Given the description of an element on the screen output the (x, y) to click on. 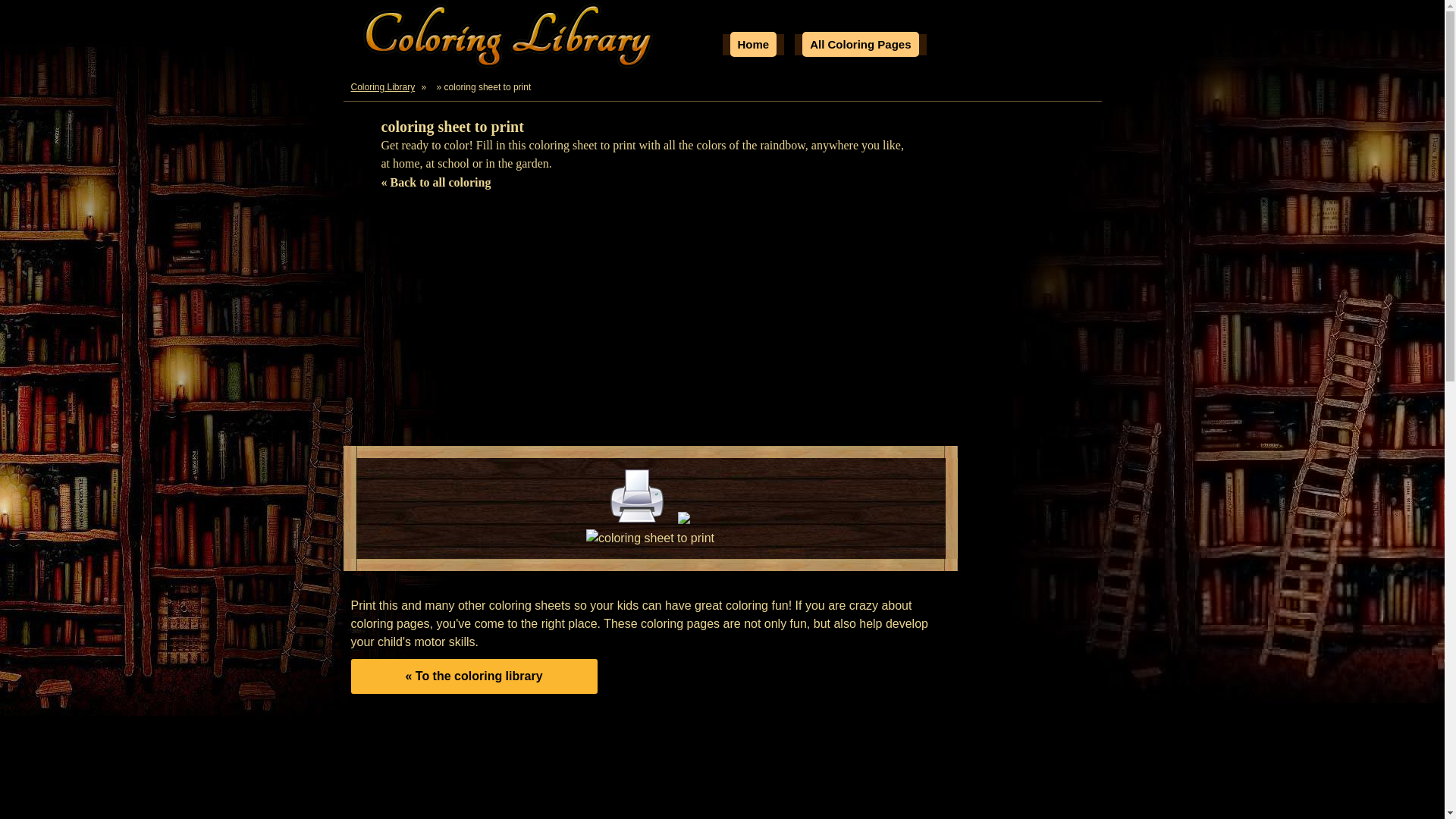
Coloring Library (383, 86)
To the   coloring library (473, 676)
Coloring Library (383, 86)
Back to all  coloring (435, 182)
All Coloring Pages (860, 43)
Coloring pages and sheets (860, 43)
Print this  coloring sheet to print (637, 496)
 coloring sheet to print (650, 538)
Free printable coloring pages (752, 43)
Home (752, 43)
Coloring Library Home (509, 38)
